Given the description of an element on the screen output the (x, y) to click on. 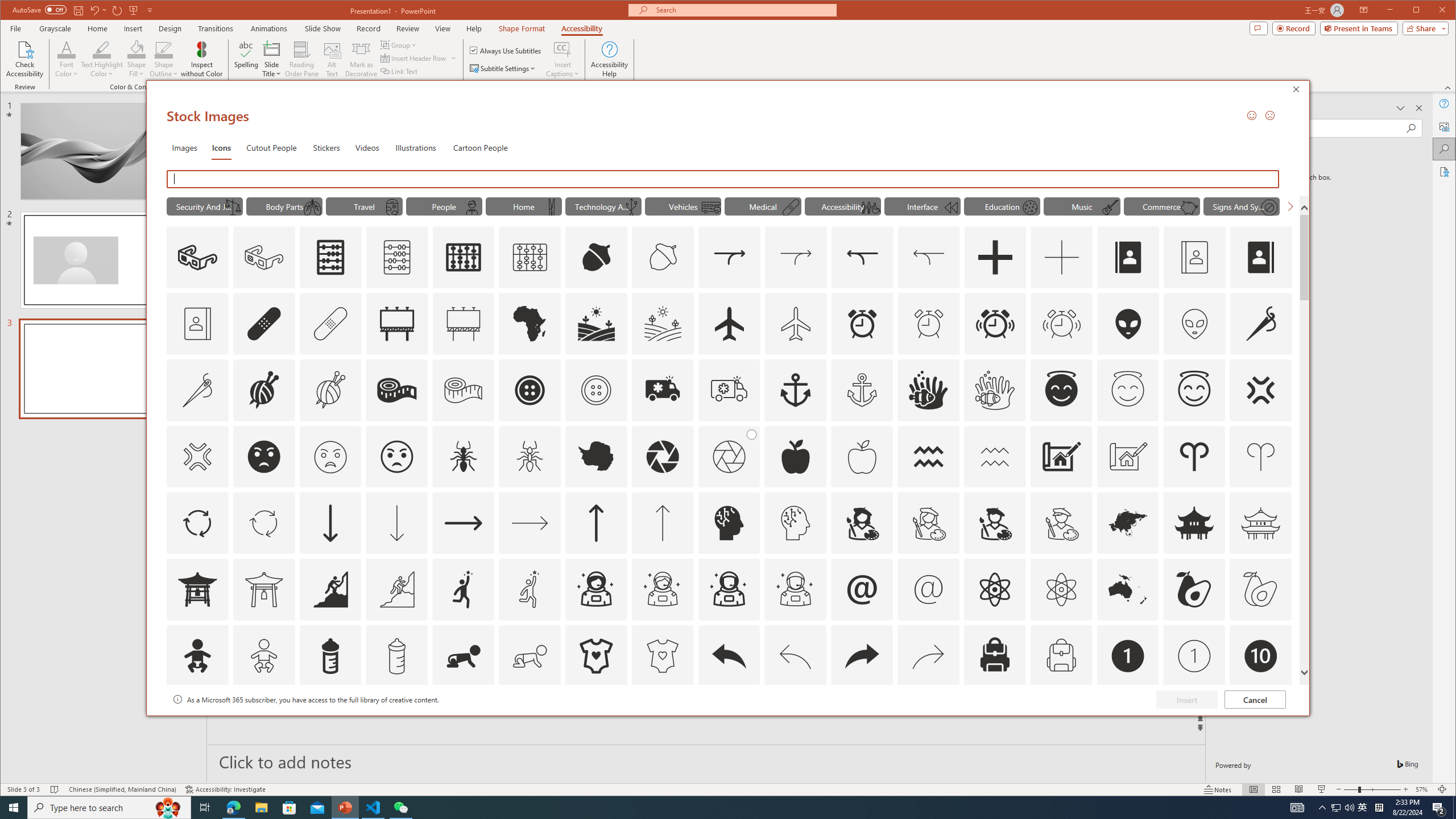
AutomationID: Icons_AlterationsTailoring (1260, 323)
AutomationID: Icons_3dGlasses_M (263, 256)
AutomationID: Icons_Aperture (662, 456)
"Technology And Electronics" Icons. (603, 206)
AutomationID: Icons_Rv_M (710, 207)
Insert Captions (562, 59)
AutomationID: Icons_SchoolBoy_M (471, 207)
User Promoted Notification Area (1342, 807)
AutomationID: Icons_Badge10_M (197, 721)
